Given the description of an element on the screen output the (x, y) to click on. 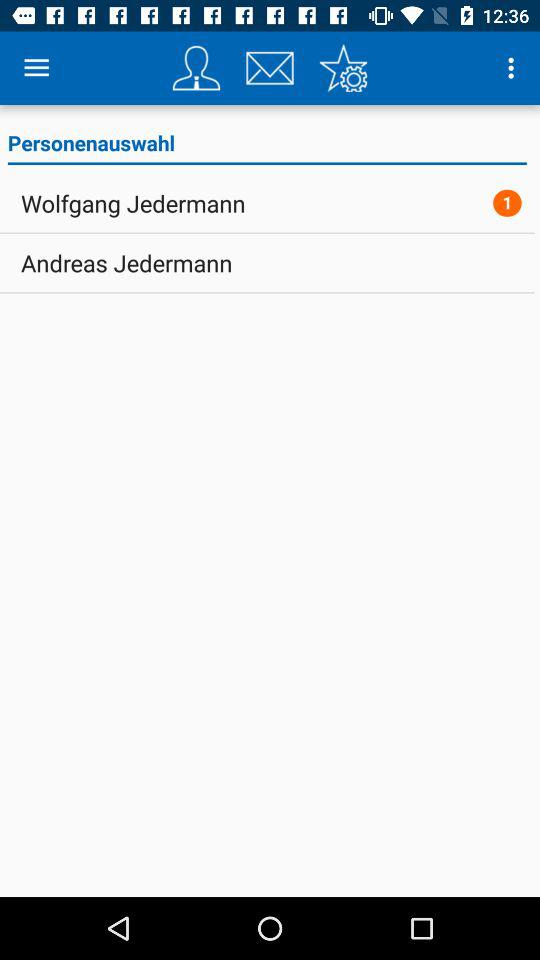
click item above personenauswahl (36, 68)
